Given the description of an element on the screen output the (x, y) to click on. 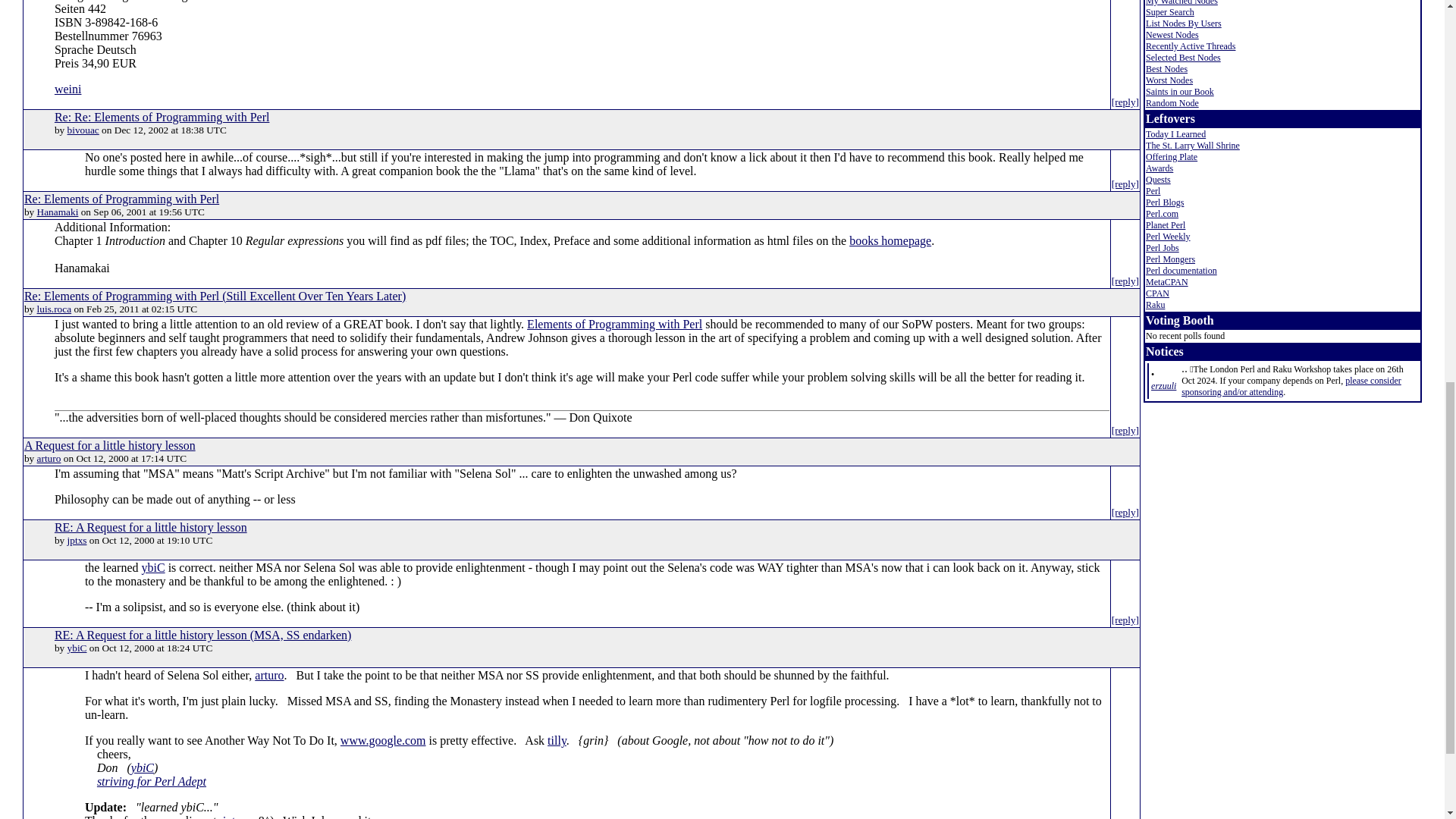
2024-05-30 14:23:36 (1163, 385)
